Given the description of an element on the screen output the (x, y) to click on. 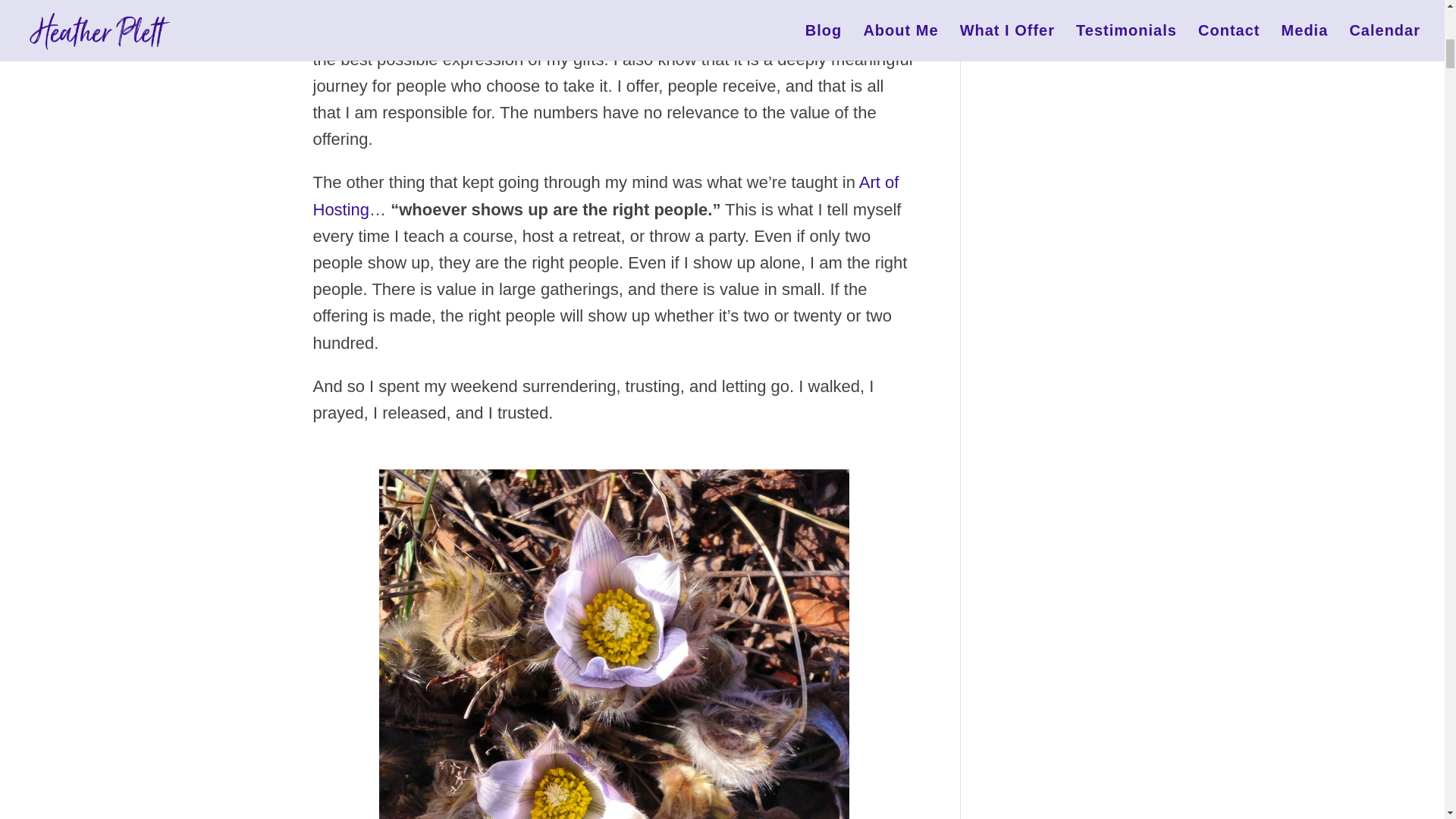
Art of Hosting (605, 195)
